Given the description of an element on the screen output the (x, y) to click on. 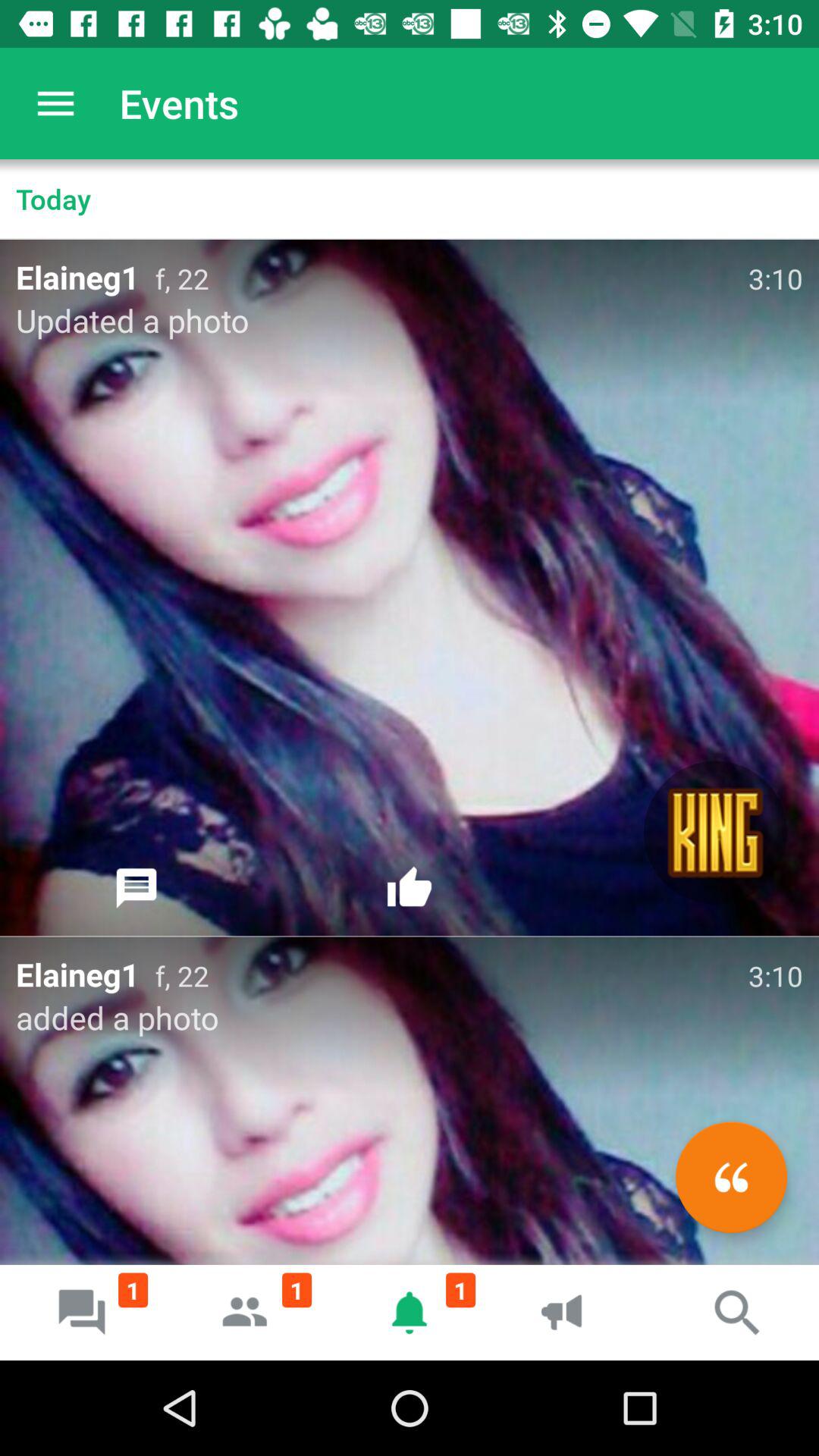
quote (731, 1177)
